Given the description of an element on the screen output the (x, y) to click on. 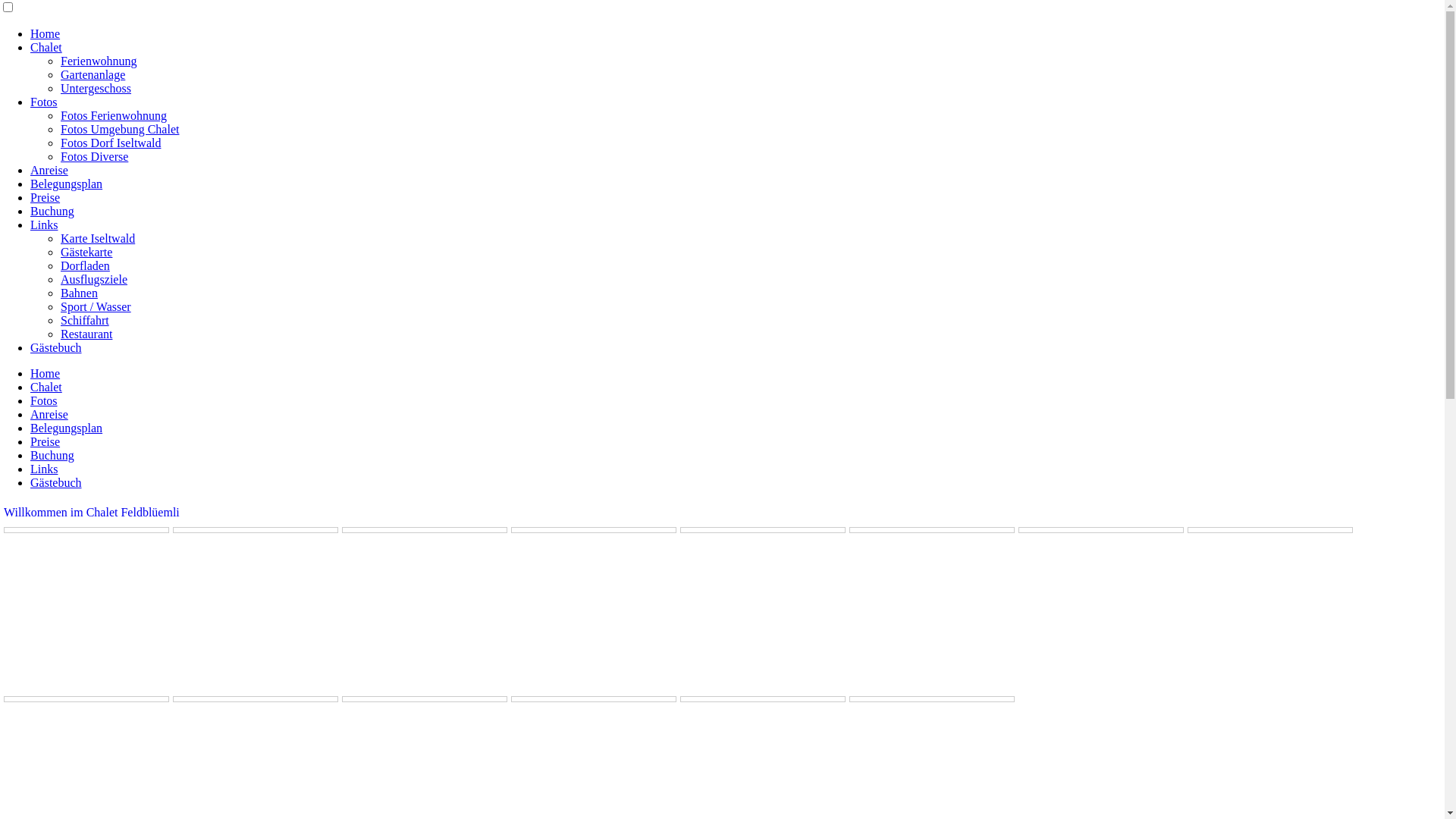
Chalet Element type: text (46, 386)
Untergeschoss Element type: text (95, 87)
Bahnen Element type: text (78, 292)
Preise Element type: text (44, 441)
Fotos Diverse Element type: text (94, 156)
Karte Iseltwald Element type: text (97, 238)
Gartenanlage Element type: text (92, 74)
Anreise Element type: text (49, 413)
Links Element type: text (43, 468)
Restaurant Element type: text (86, 333)
Chalet Element type: text (46, 46)
Fotos Element type: text (43, 101)
Fotos Umgebung Chalet Element type: text (119, 128)
Fotos Dorf Iseltwald Element type: text (110, 142)
Belegungsplan Element type: text (66, 183)
Schiffahrt Element type: text (84, 319)
Ferienwohnung Element type: text (98, 60)
Belegungsplan Element type: text (66, 427)
Buchung Element type: text (52, 210)
Fotos Element type: text (43, 400)
Buchung Element type: text (52, 454)
Links Element type: text (43, 224)
Sport / Wasser Element type: text (95, 306)
Dorfladen Element type: text (84, 265)
Preise Element type: text (44, 197)
Fotos Ferienwohnung Element type: text (113, 115)
Ausflugsziele Element type: text (93, 279)
Home Element type: text (44, 373)
Home Element type: text (44, 33)
Anreise Element type: text (49, 169)
